Given the description of an element on the screen output the (x, y) to click on. 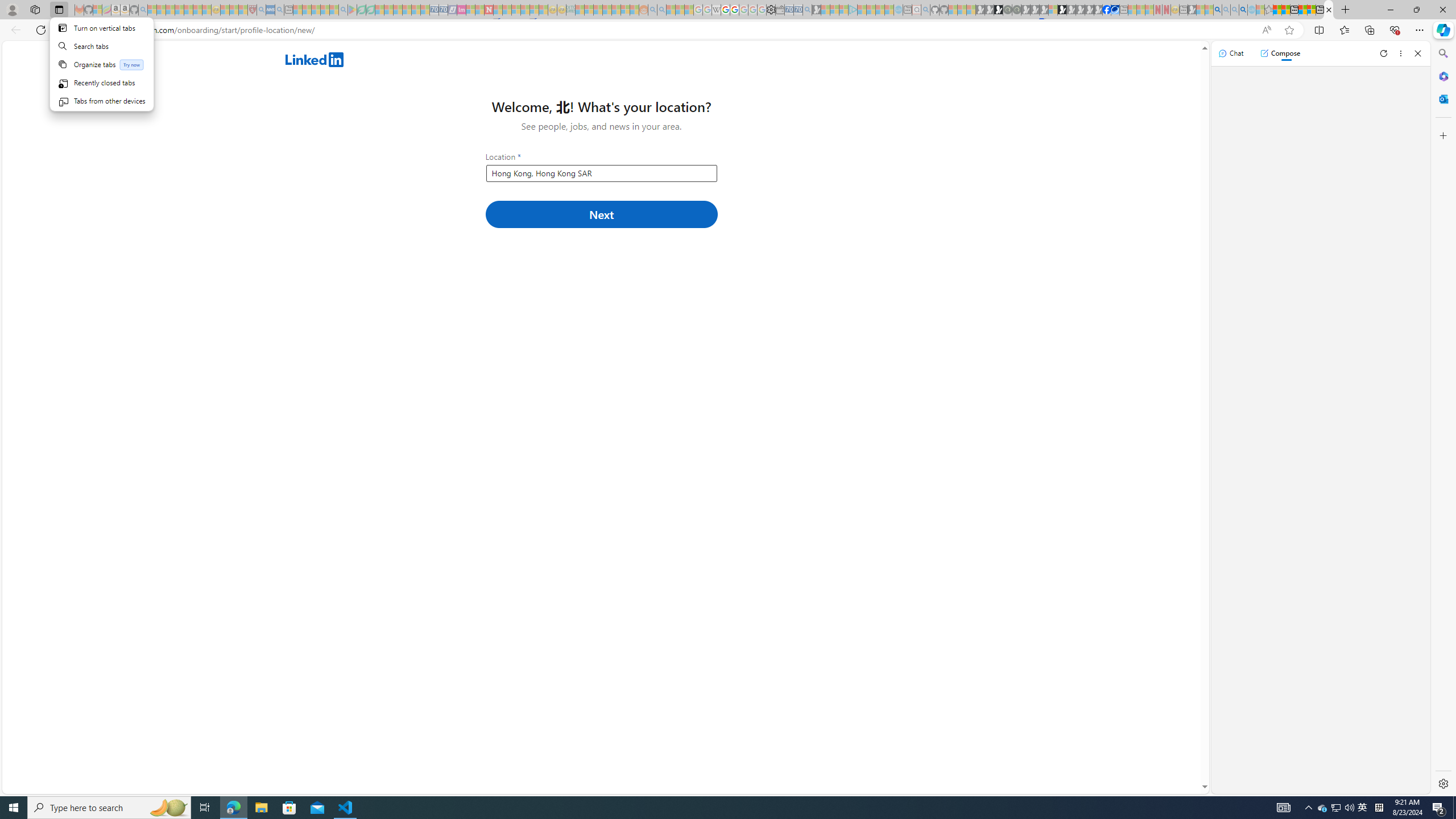
Google Chrome Internet Browser Download - Search Images (1243, 9)
Bluey: Let's Play! - Apps on Google Play - Sleeping (352, 9)
